Given the description of an element on the screen output the (x, y) to click on. 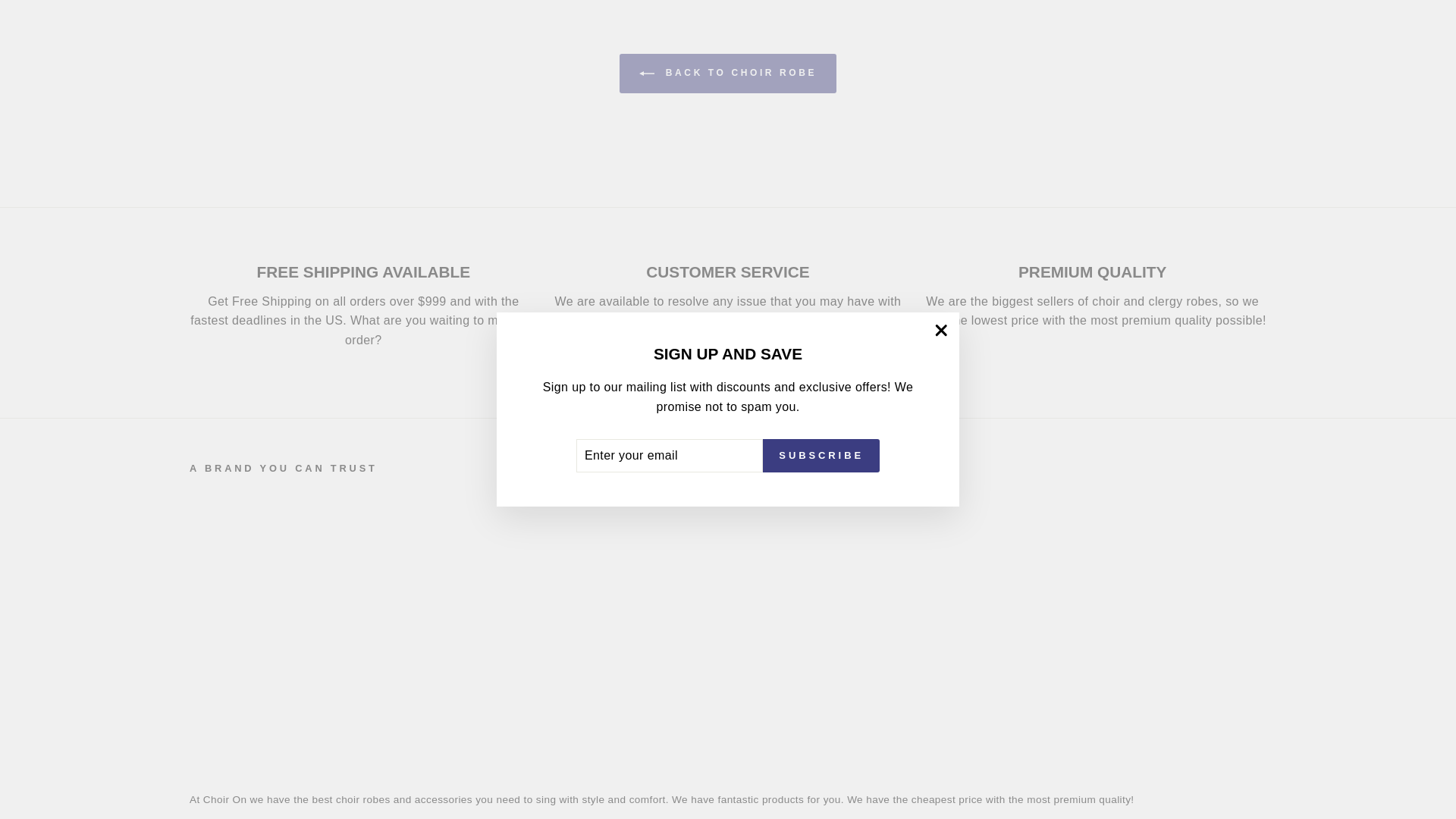
ICON-LEFT-ARROW (646, 73)
